Given the description of an element on the screen output the (x, y) to click on. 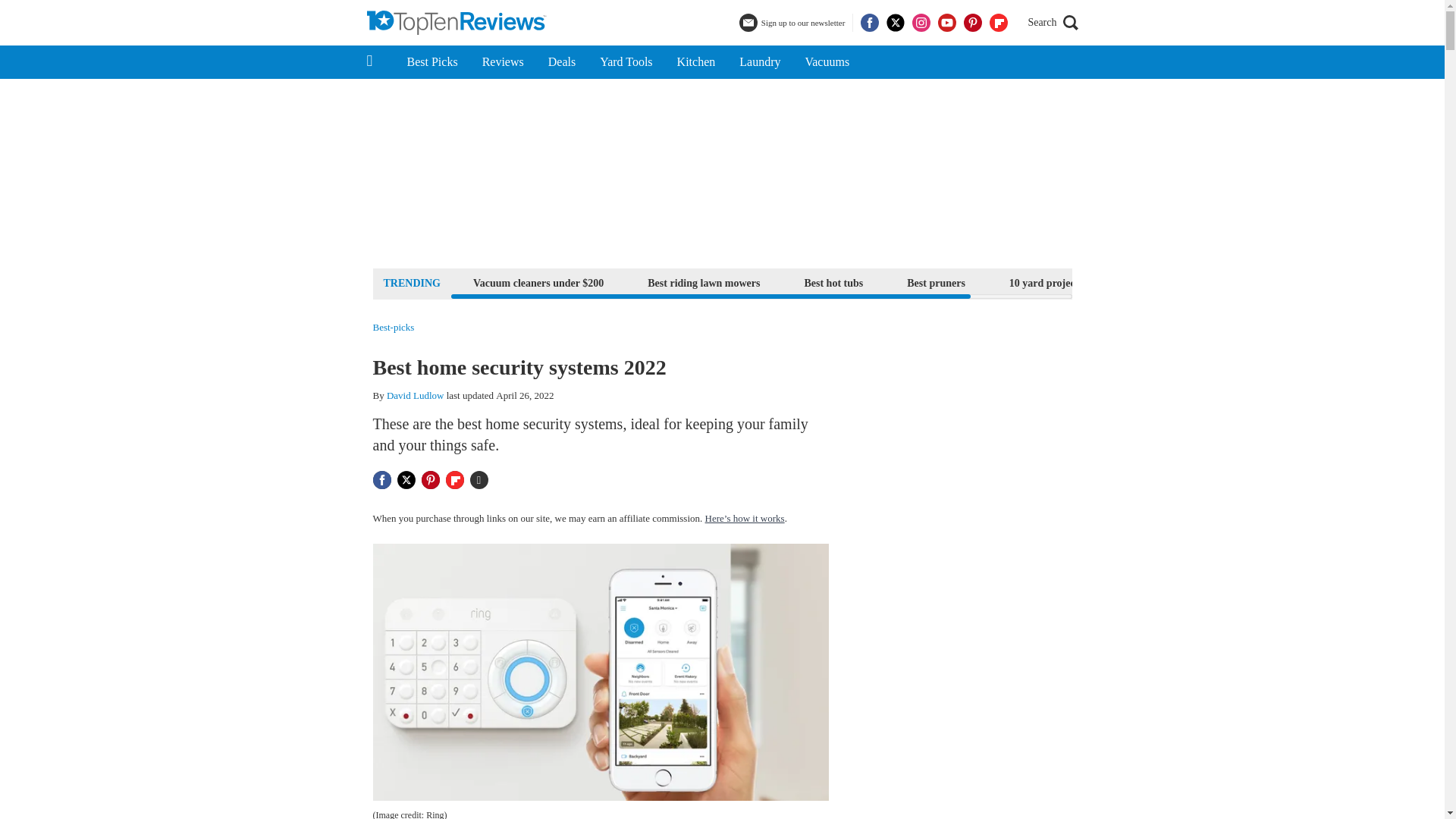
Reviews (502, 61)
Best Picks (431, 61)
Vacuums (826, 61)
Sign up to our newsletter (793, 22)
David Ludlow (415, 395)
Kitchen (696, 61)
Yard Tools (625, 61)
10 yard projects to complete in July (1090, 282)
Best pruners (936, 282)
Best riding lawn mowers (703, 282)
Best-picks (393, 327)
Best hot tubs (832, 282)
Deals (561, 61)
Laundry (759, 61)
